Given the description of an element on the screen output the (x, y) to click on. 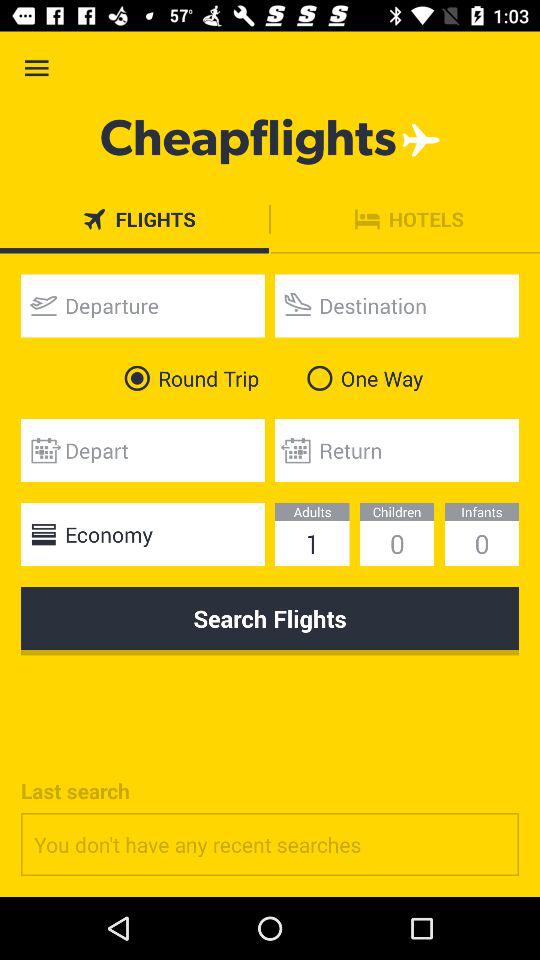
jump to the search flights (270, 621)
